Given the description of an element on the screen output the (x, y) to click on. 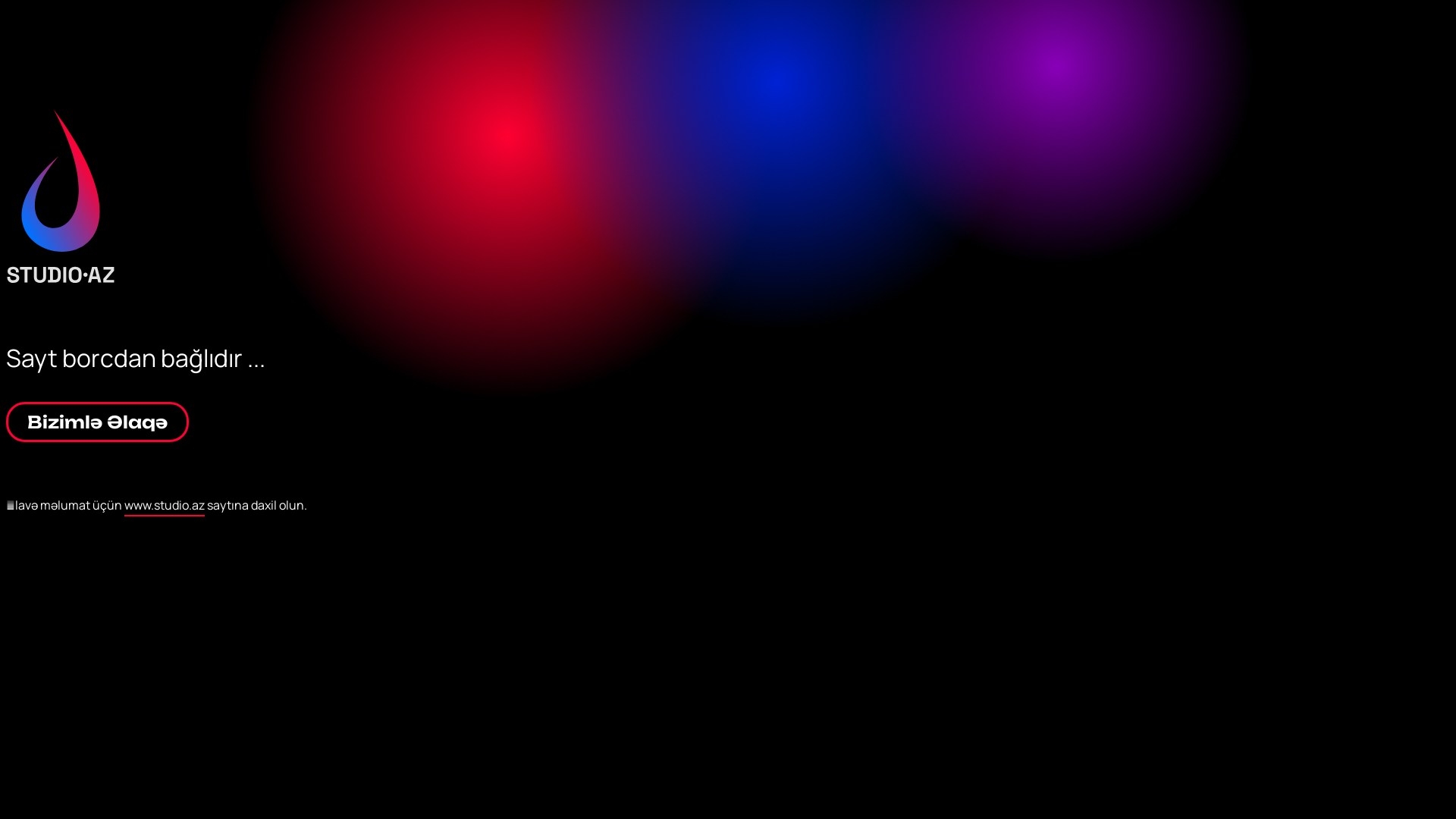
www.studio.az Element type: text (164, 506)
